Given the description of an element on the screen output the (x, y) to click on. 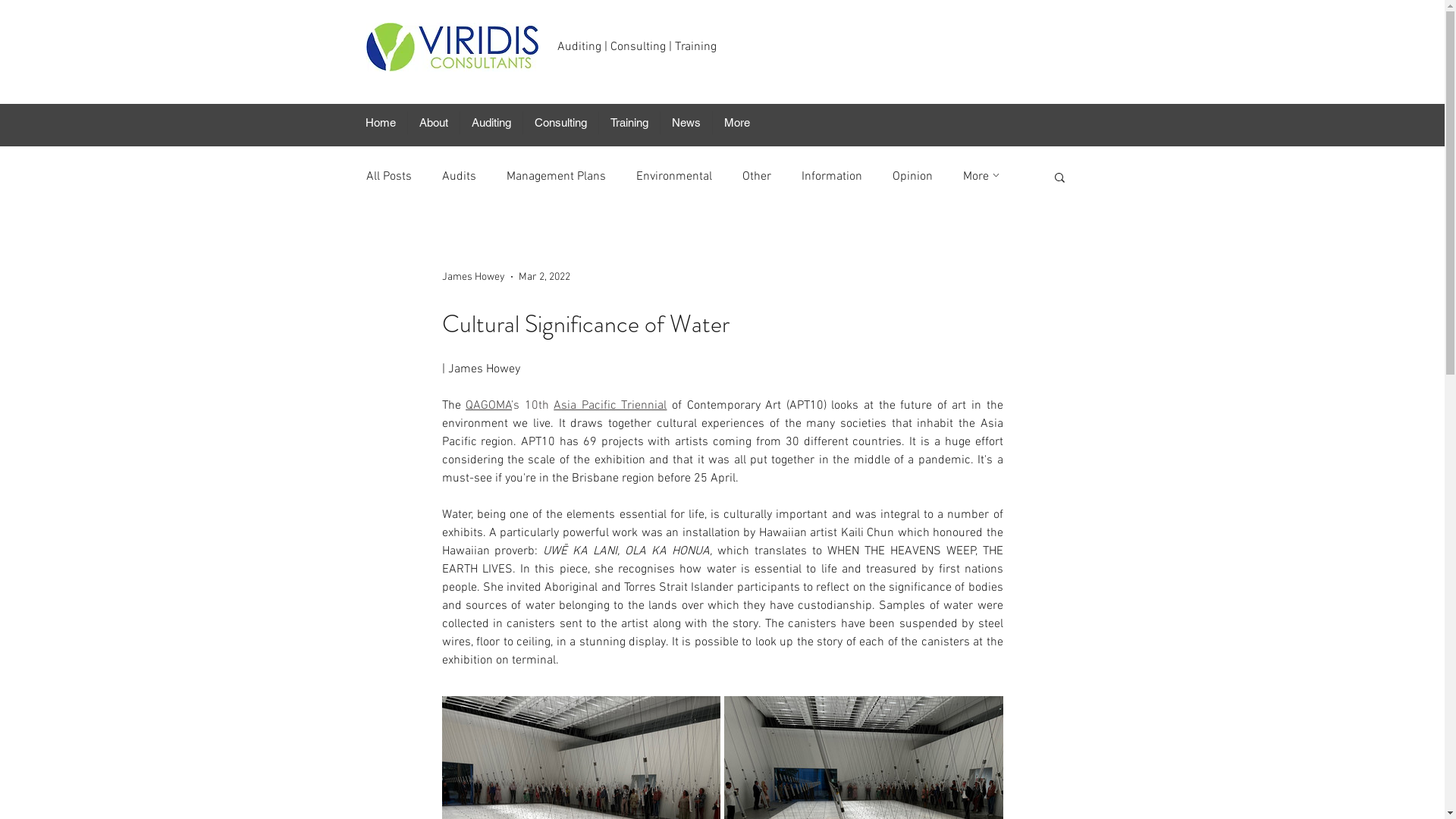
All Posts Element type: text (388, 176)
Training Element type: text (627, 122)
Asia Pacific Triennial Element type: text (609, 405)
QAGOMA Element type: text (488, 405)
Information Element type: text (830, 176)
Opinion Element type: text (911, 176)
Home Element type: text (379, 122)
Management Plans Element type: text (555, 176)
Auditing Element type: text (490, 122)
Audits Element type: text (458, 176)
Other Element type: text (755, 176)
News Element type: text (685, 122)
Environmental Element type: text (673, 176)
